Given the description of an element on the screen output the (x, y) to click on. 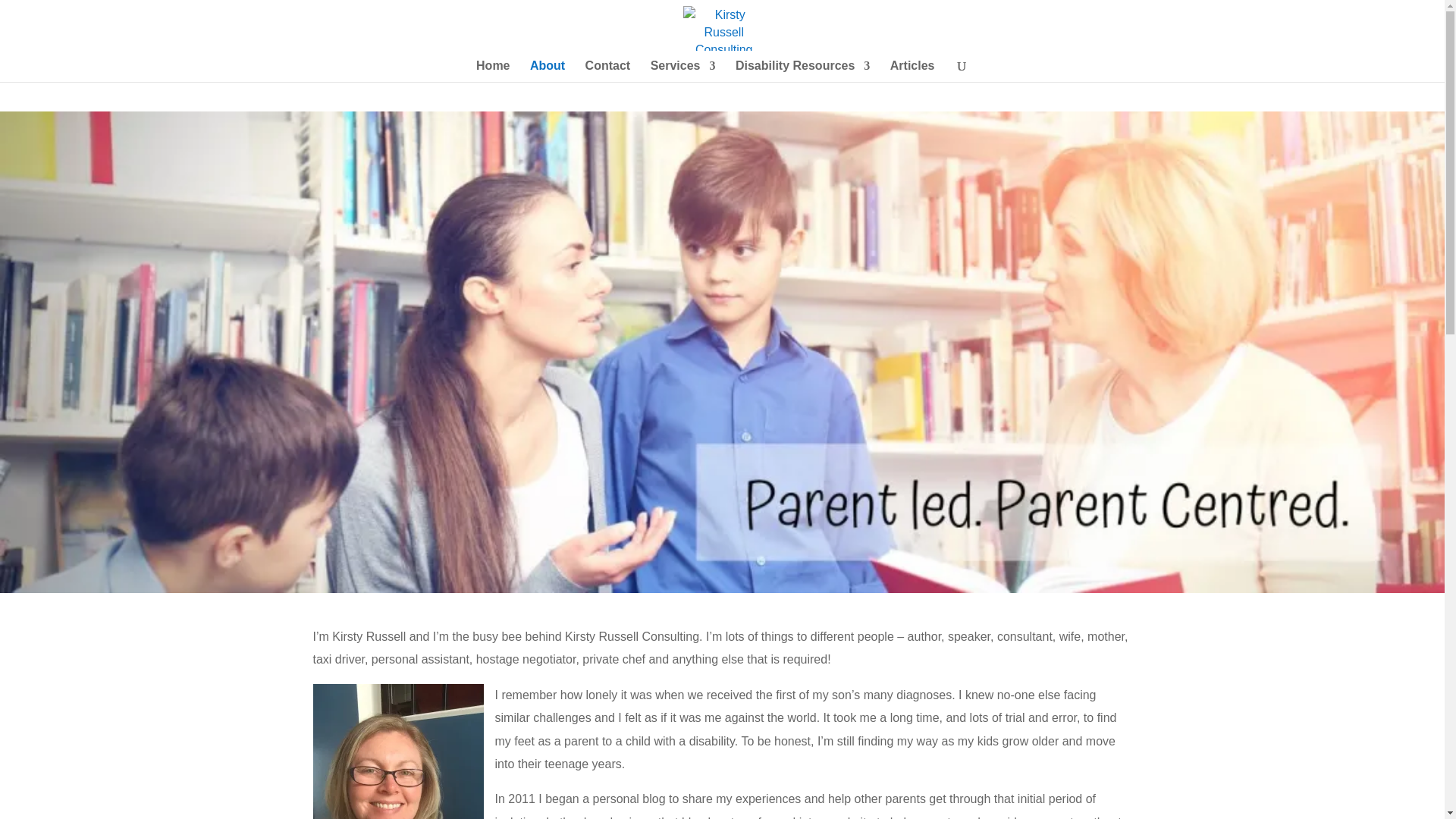
Home (492, 70)
Articles (911, 70)
Services (683, 70)
Disability Resources (802, 70)
About (546, 70)
Contact (607, 70)
